Given the description of an element on the screen output the (x, y) to click on. 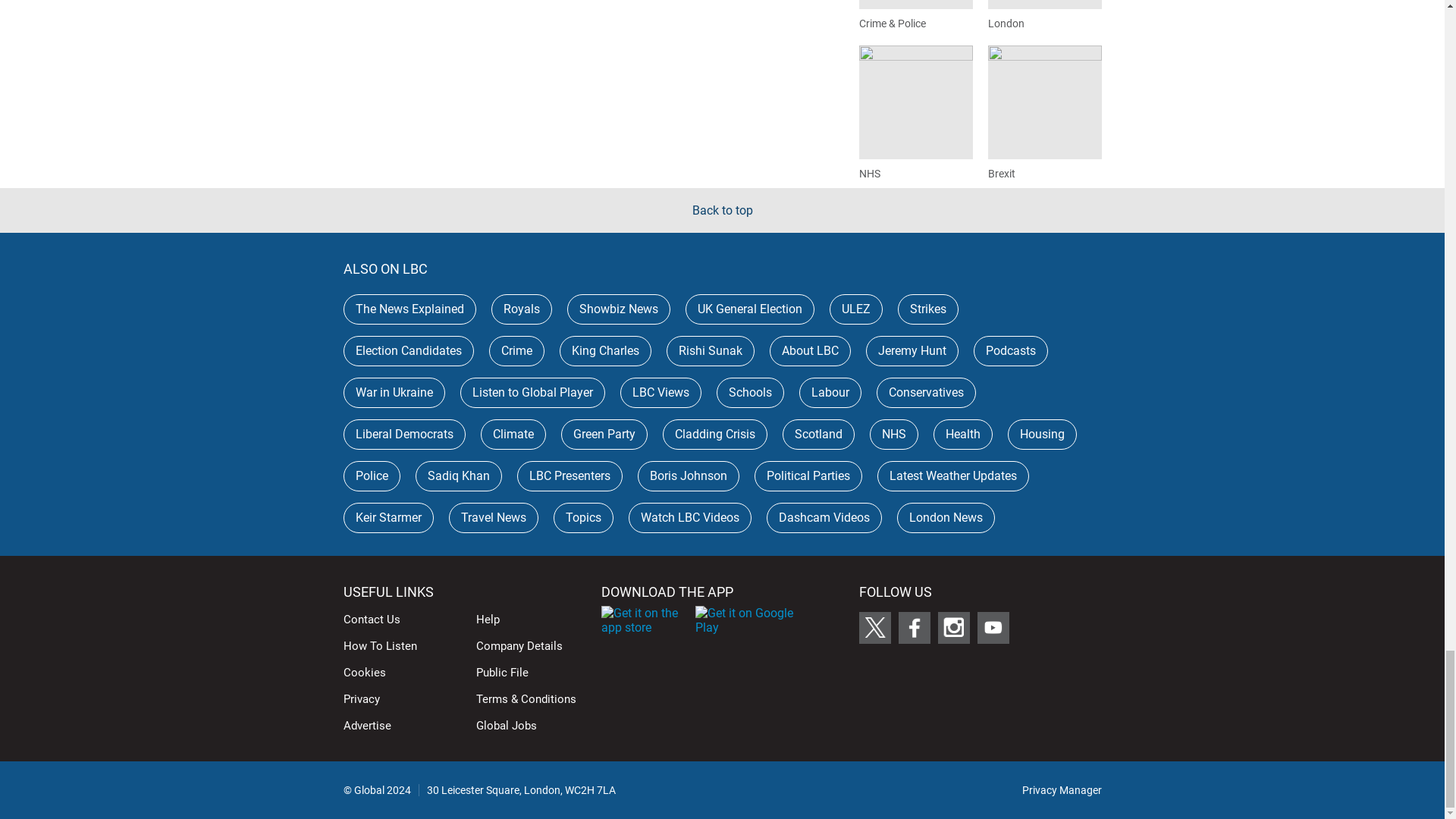
Back to top (721, 210)
Follow LBC on X (874, 627)
Follow LBC on Youtube (992, 627)
Follow LBC on Instagram (953, 627)
Follow LBC on Facebook (914, 627)
